Given the description of an element on the screen output the (x, y) to click on. 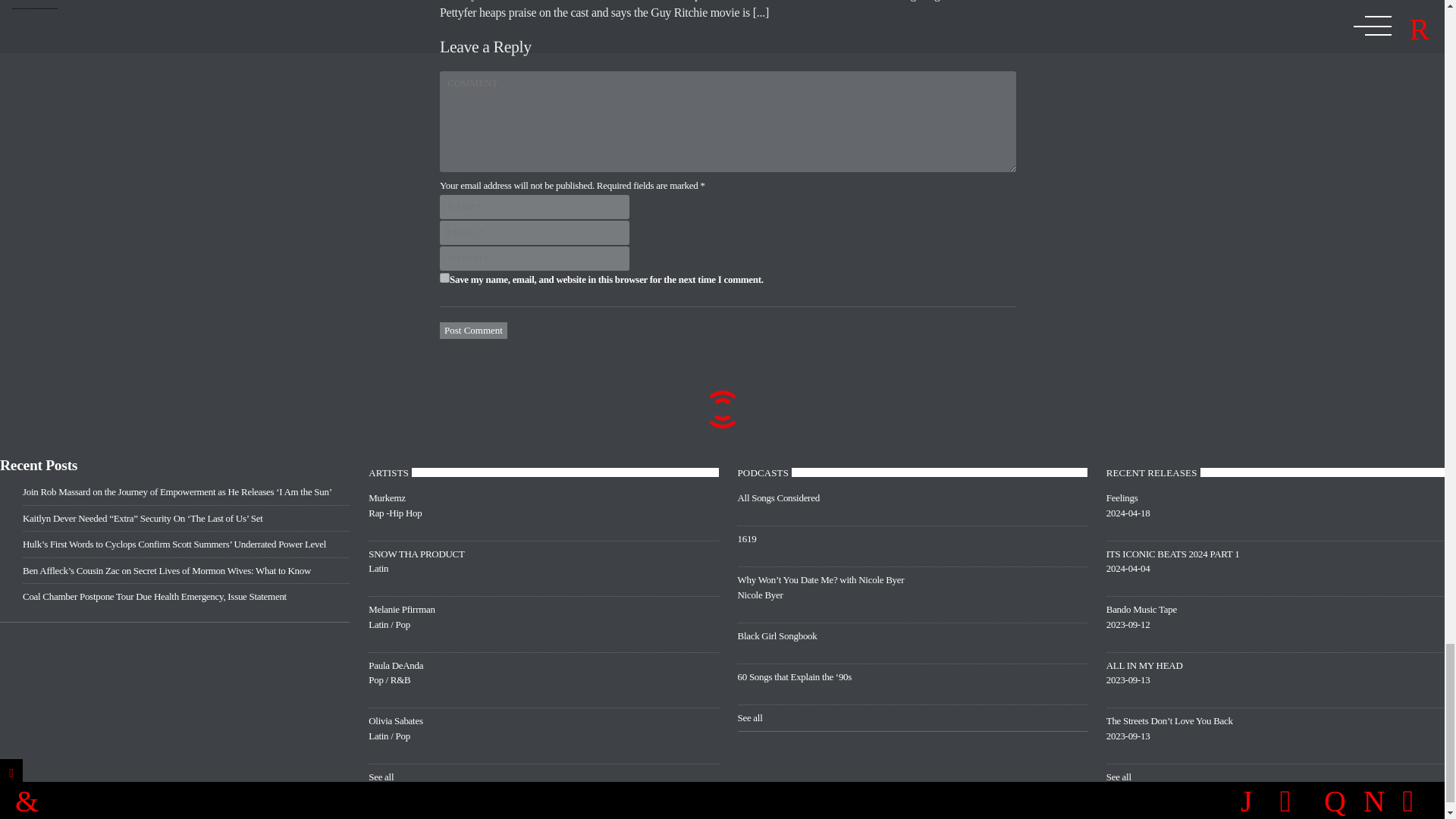
yes (542, 512)
Post Comment (444, 277)
Post Comment (542, 567)
